Given the description of an element on the screen output the (x, y) to click on. 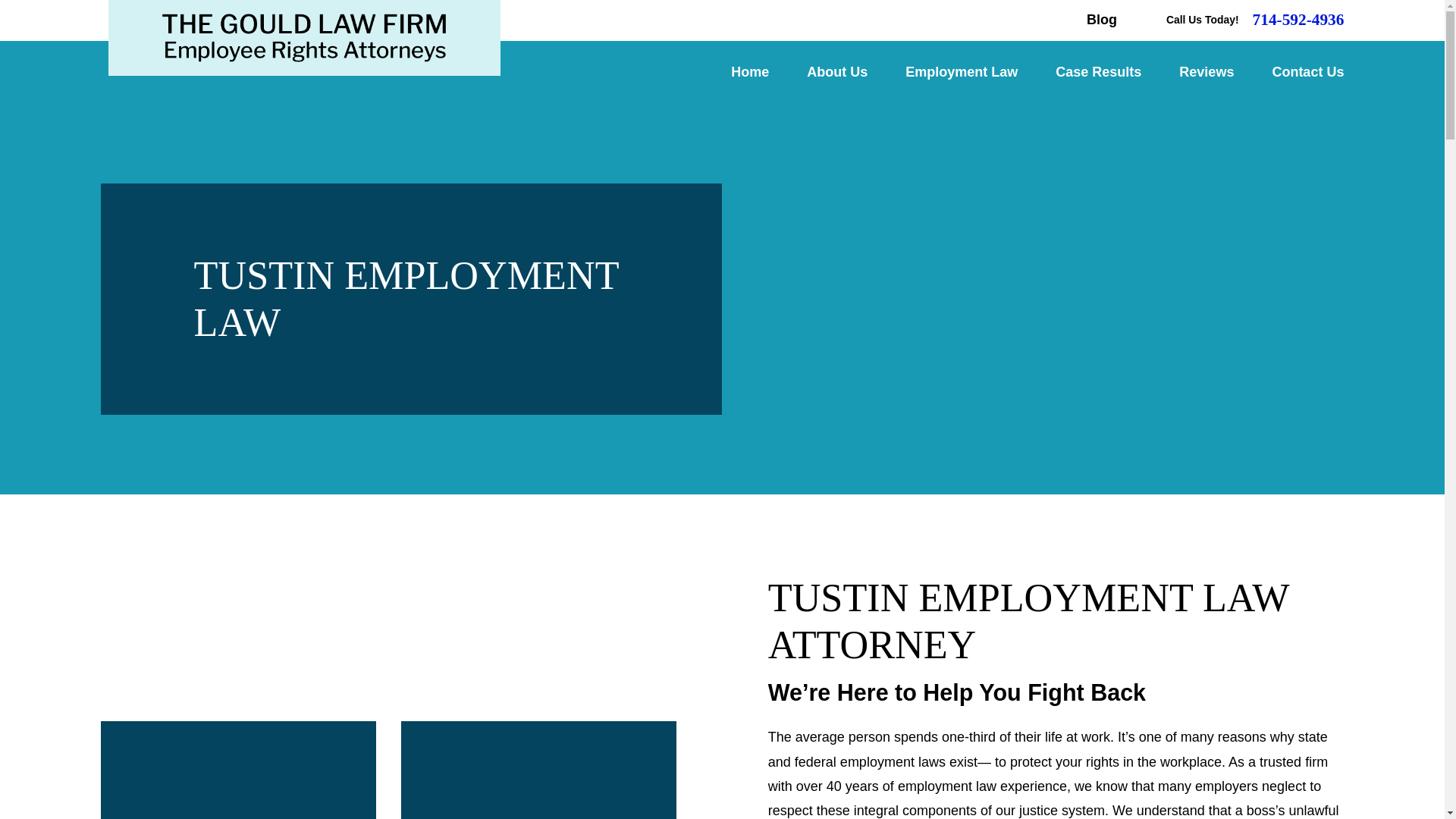
Blog (1101, 19)
Home (303, 37)
Reviews (1206, 72)
Employment Law (961, 72)
Contact Us (1307, 72)
Case Results (1098, 72)
Home (749, 72)
714-592-4936 (1297, 19)
About Us (836, 72)
